Given the description of an element on the screen output the (x, y) to click on. 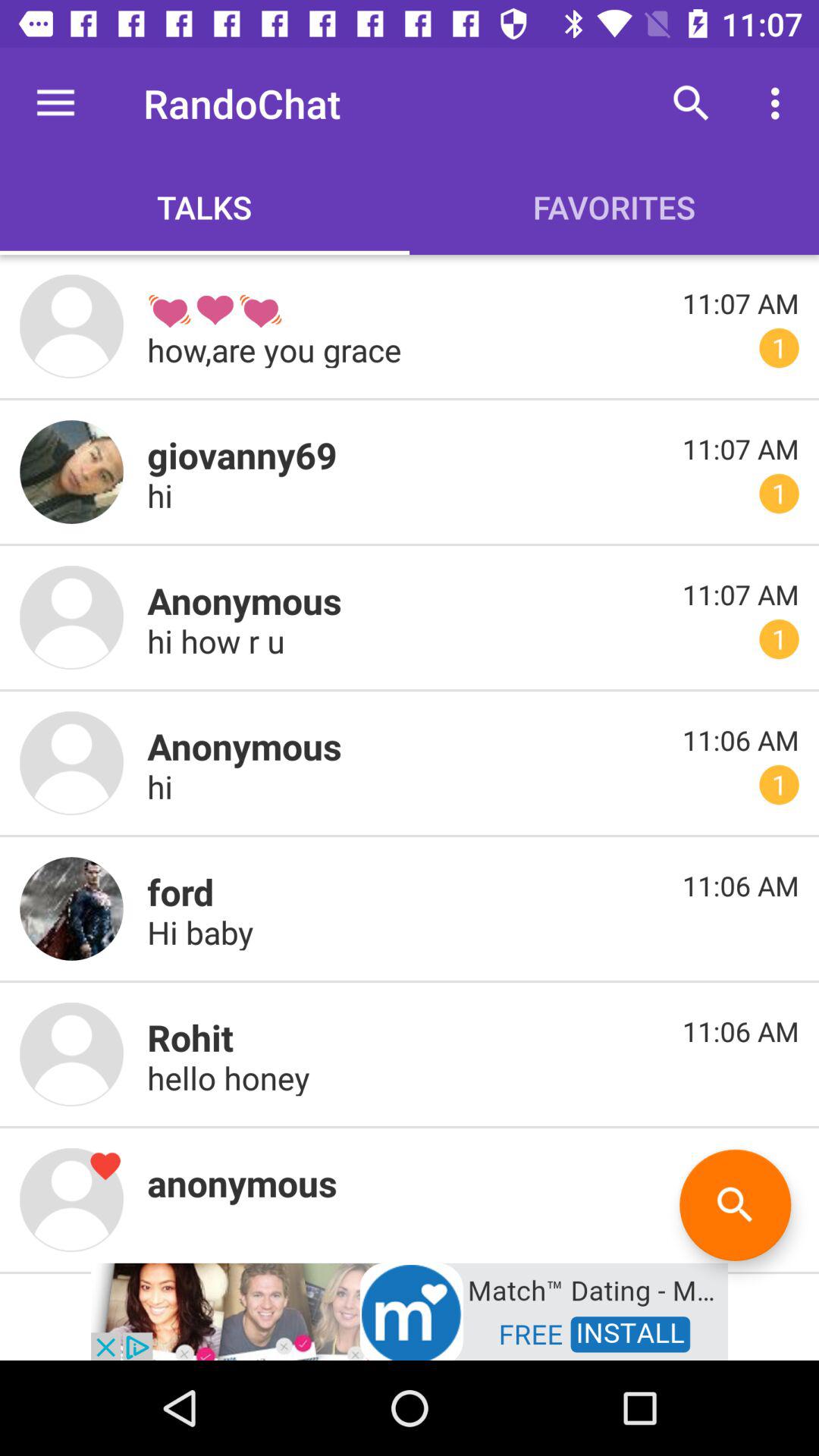
open match advertisement (409, 1310)
